Given the description of an element on the screen output the (x, y) to click on. 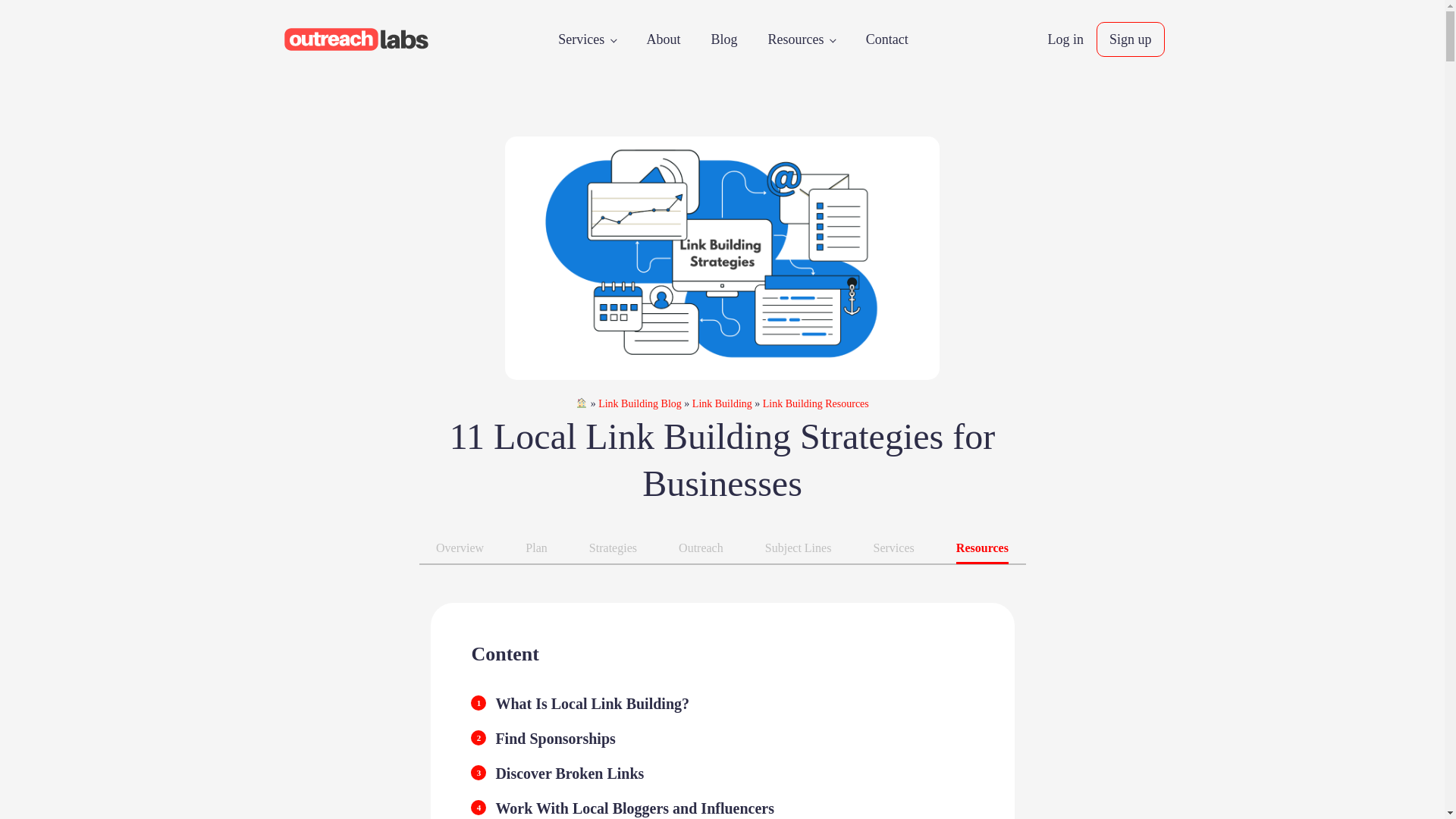
Services (586, 39)
Link Building Resources (815, 403)
Strategies (613, 547)
Resources (801, 39)
Contact (886, 39)
Log in (1064, 39)
Overview (459, 547)
Link Building (722, 403)
Sign up (1130, 39)
Blog (723, 39)
Plan (536, 547)
About (662, 39)
Link Building Blog (639, 403)
